Given the description of an element on the screen output the (x, y) to click on. 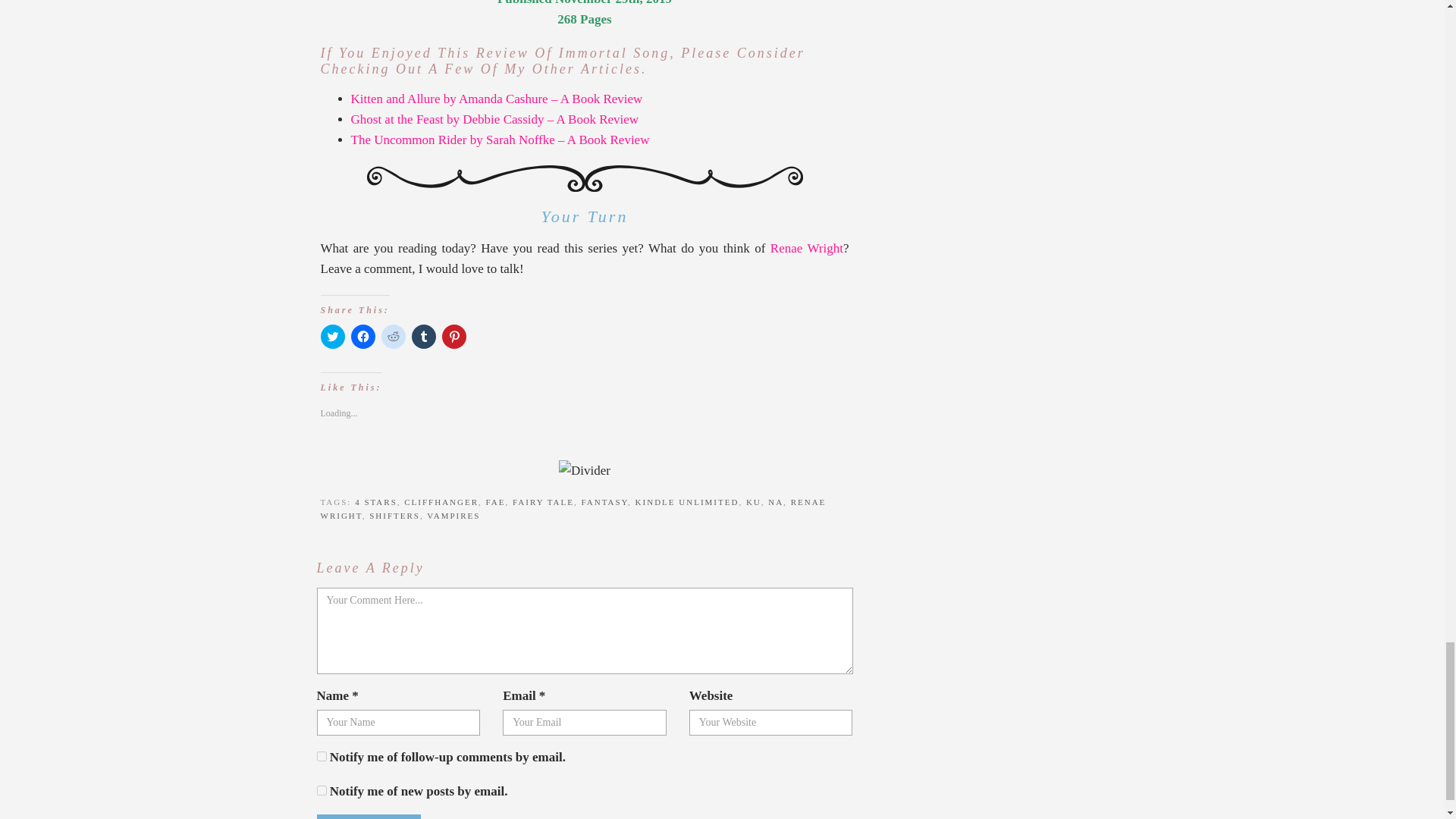
Click to share on Tumblr (422, 336)
Click to share on Facebook (362, 336)
Post Comment (368, 816)
subscribe (321, 756)
Click to share on Twitter (331, 336)
subscribe (321, 790)
Click to share on Reddit (392, 336)
Click to share on Pinterest (453, 336)
